Given the description of an element on the screen output the (x, y) to click on. 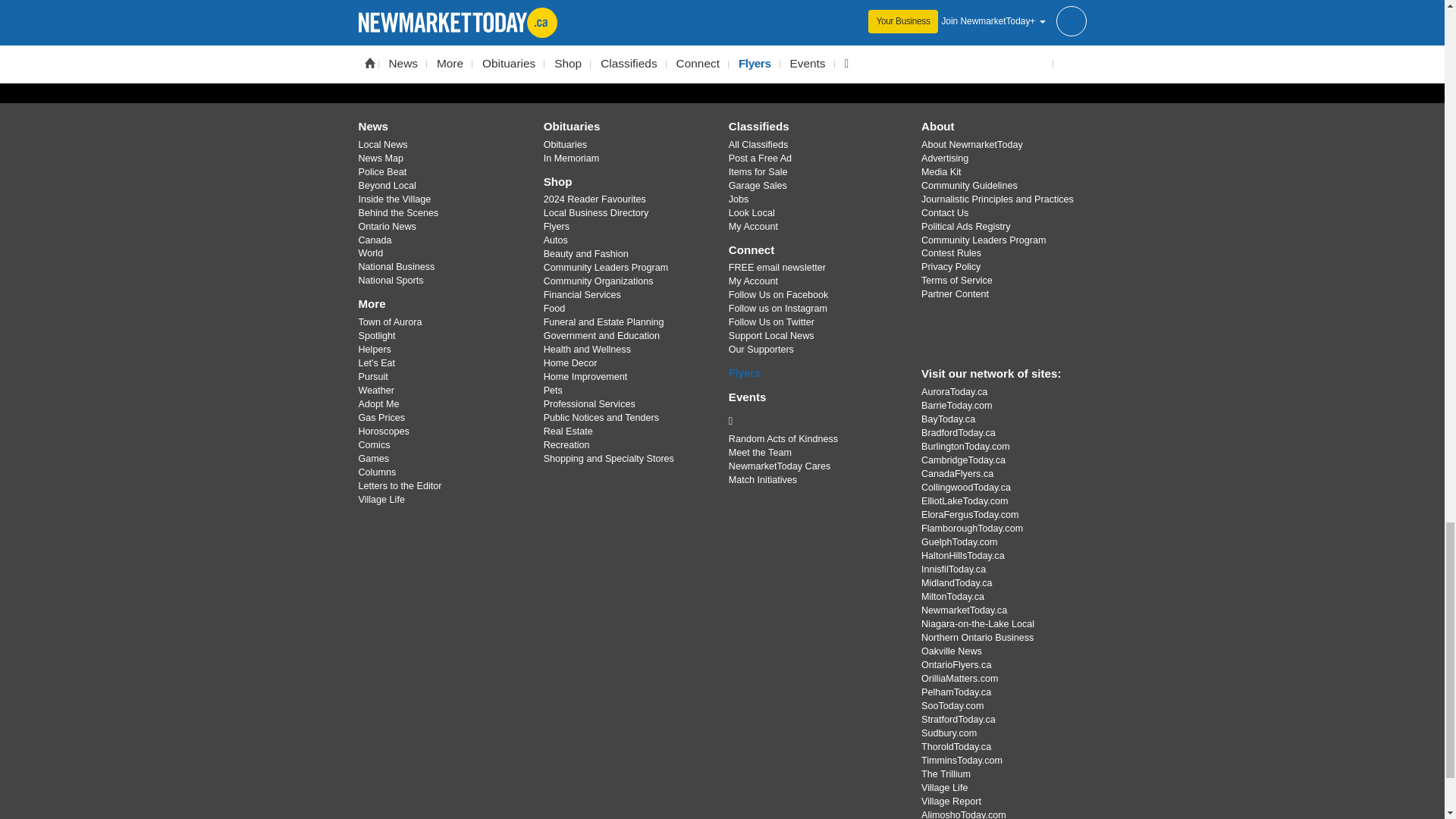
X (721, 72)
Facebook (683, 72)
NewmarketToday Cares (813, 420)
Instagram (760, 72)
